Given the description of an element on the screen output the (x, y) to click on. 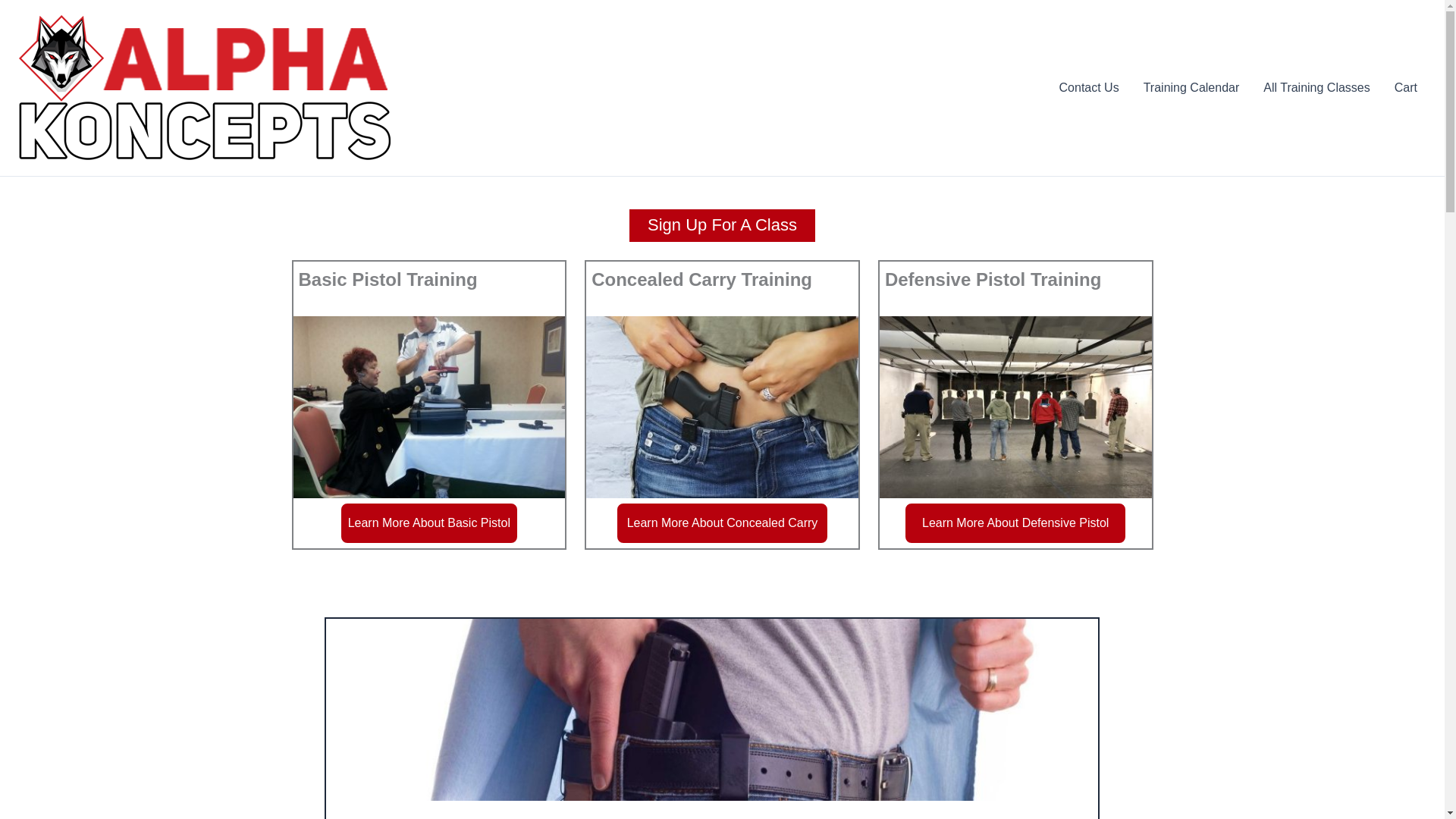
Sign Up For A Class (721, 225)
Learn More About Defensive Pistol (1015, 522)
All Training Classes (1315, 87)
Contact Us (1088, 87)
Learn More About Concealed Carry (722, 522)
Learn More About Basic Pistol (428, 522)
Training Calendar (1191, 87)
